Given the description of an element on the screen output the (x, y) to click on. 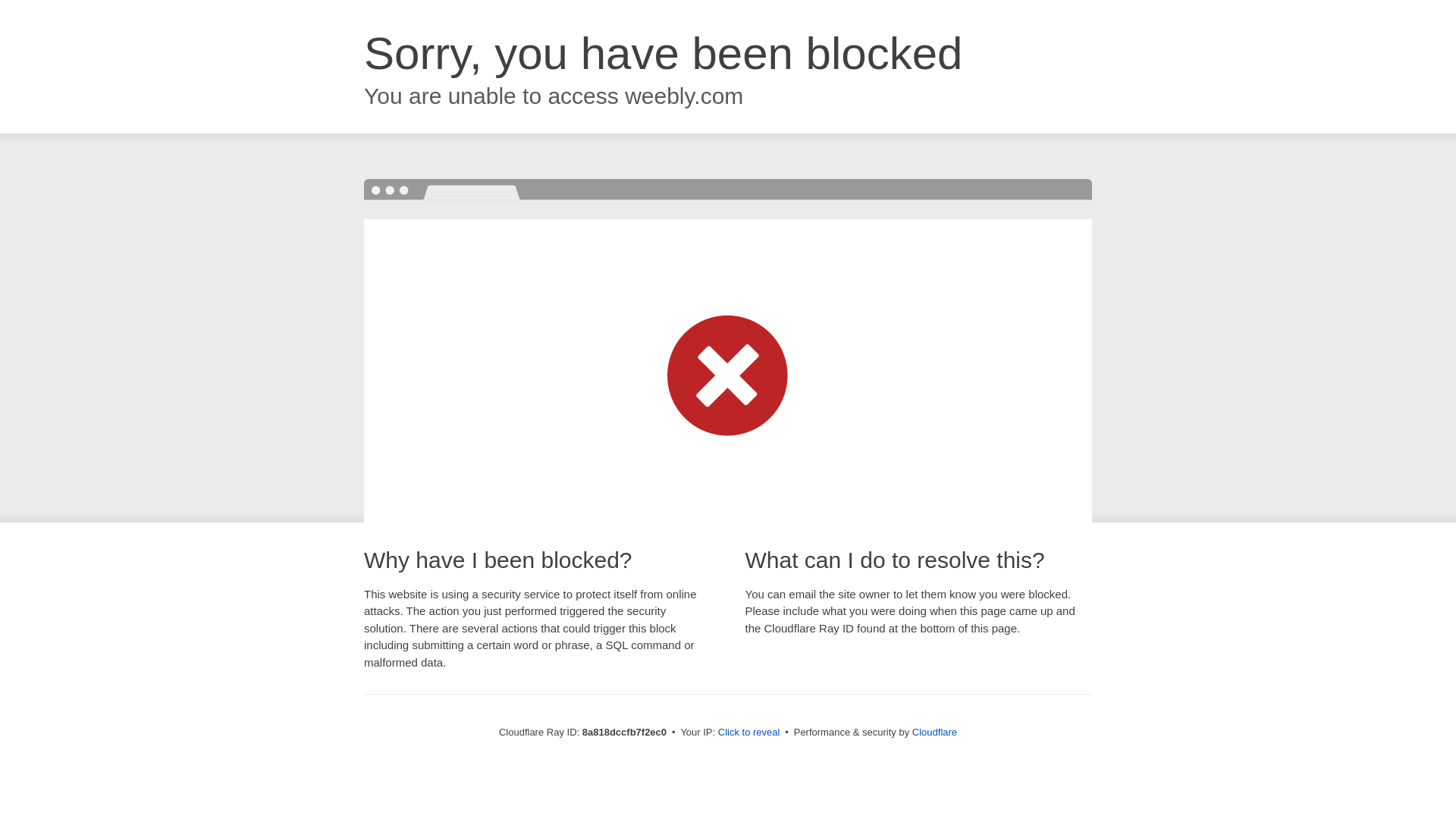
Click to reveal (748, 732)
Cloudflare (934, 731)
